Given the description of an element on the screen output the (x, y) to click on. 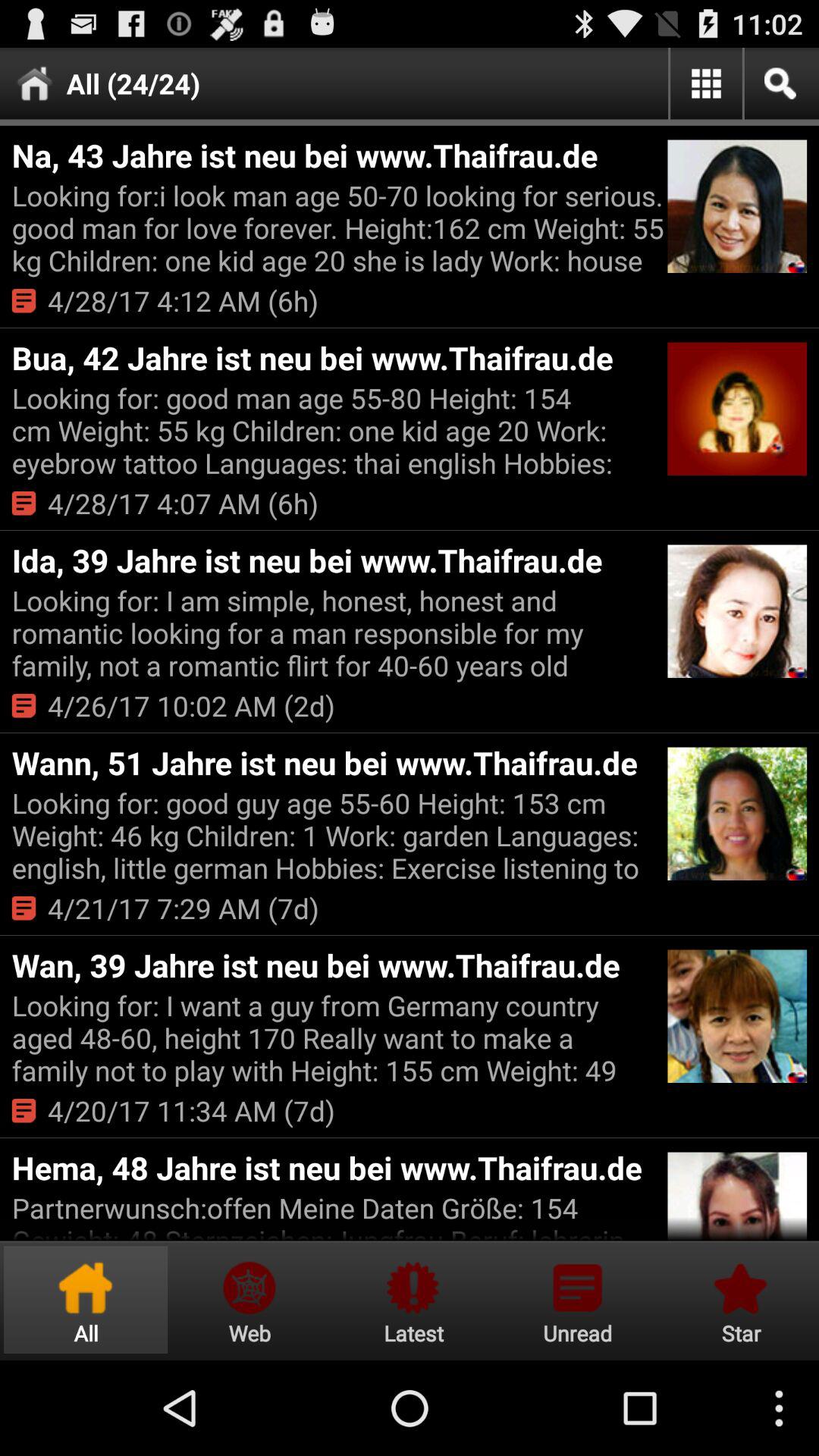
turn on the item above the partnerwunsch offen meine item (337, 1167)
